Given the description of an element on the screen output the (x, y) to click on. 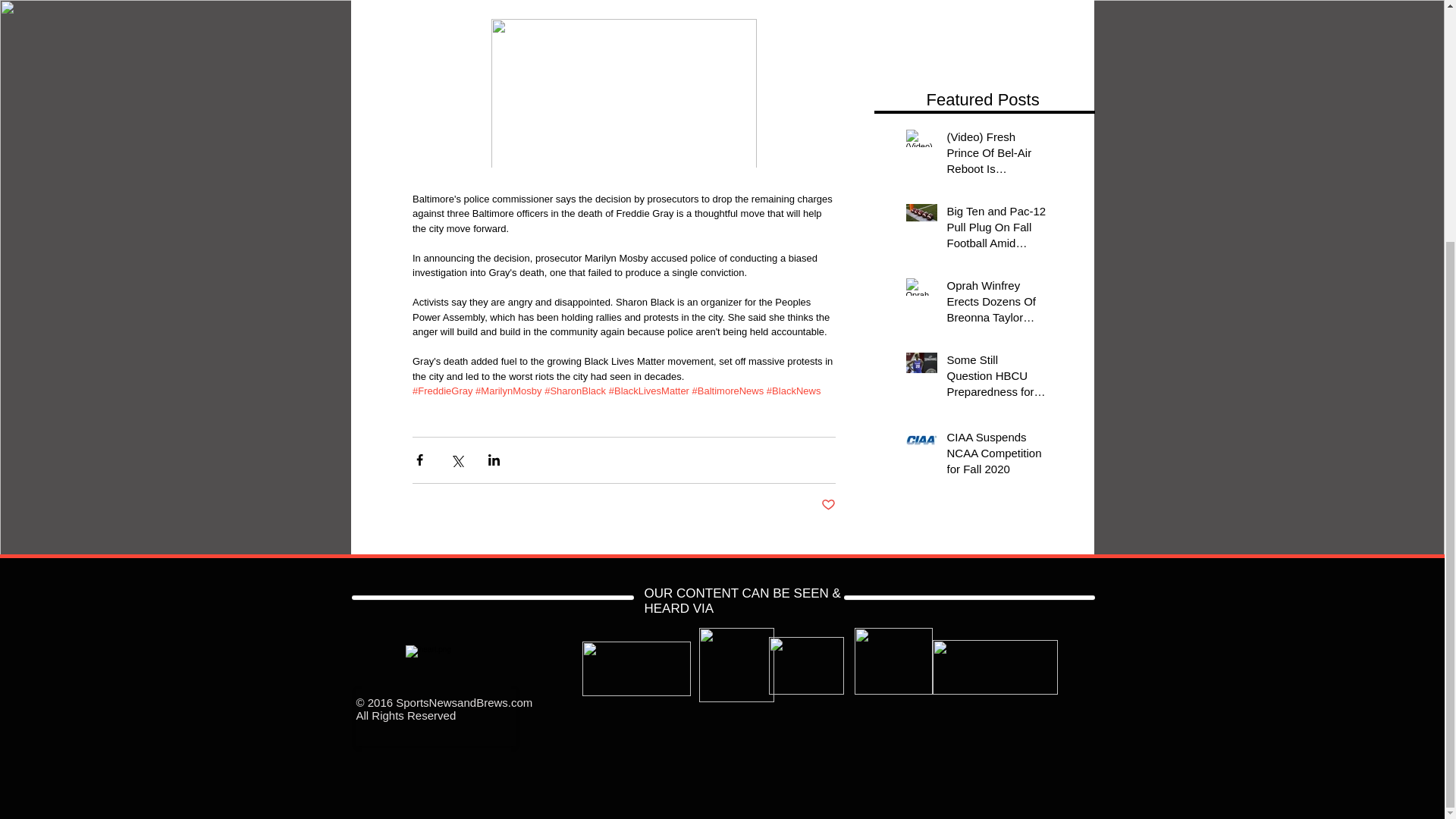
Some Still Question HBCU Preparedness for Blue Chip Athletes (995, 378)
Post not marked as liked (827, 505)
Big Ten and Pac-12 Pull Plug On Fall Football Amid Pandemic (995, 230)
CIAA Suspends NCAA Competition for Fall 2020 (995, 456)
